Given the description of an element on the screen output the (x, y) to click on. 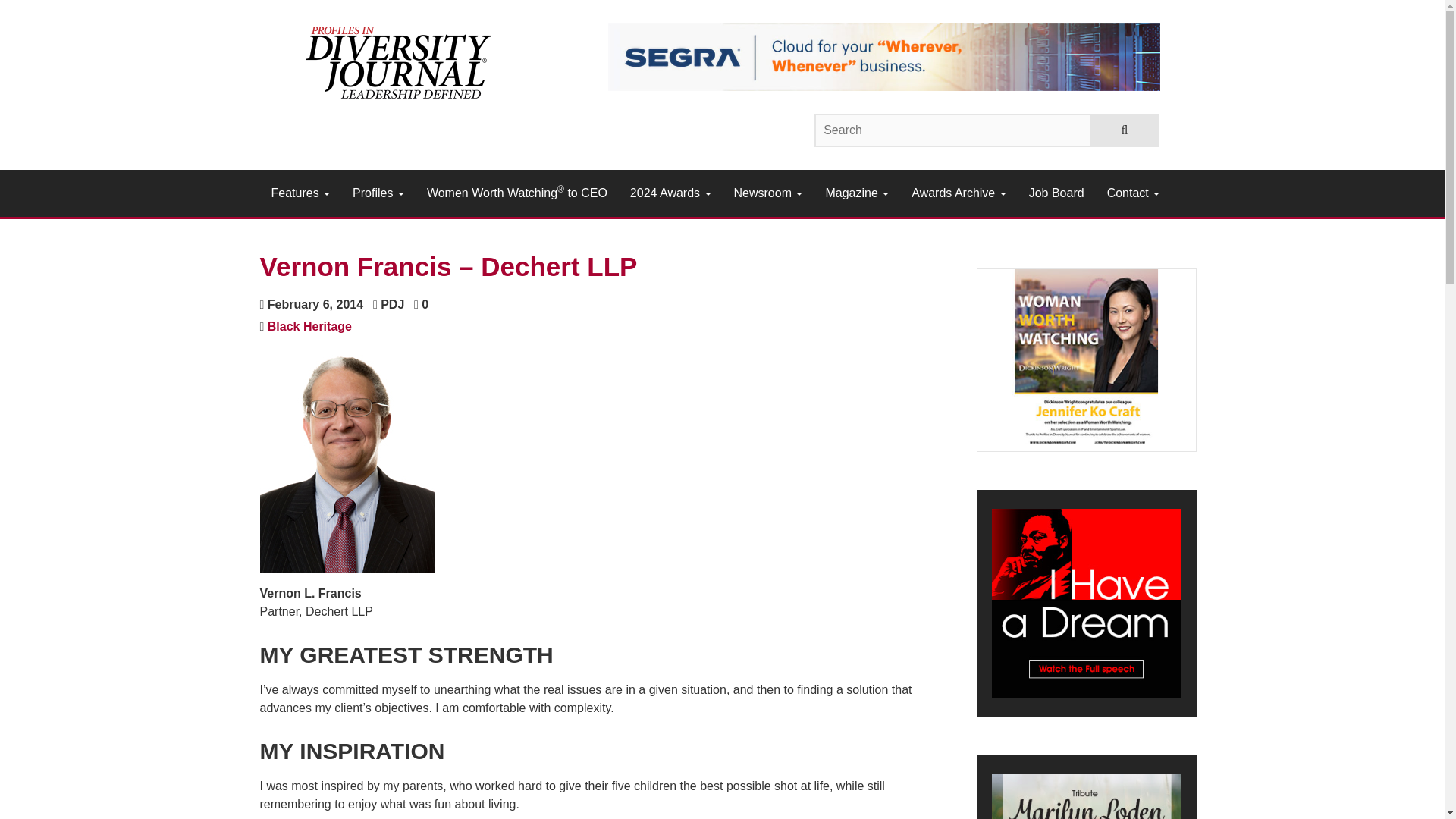
Features (299, 193)
Profiles (377, 193)
Profiles (377, 193)
Features (299, 193)
2024 Awards (670, 193)
Newsroom (767, 193)
